Given the description of an element on the screen output the (x, y) to click on. 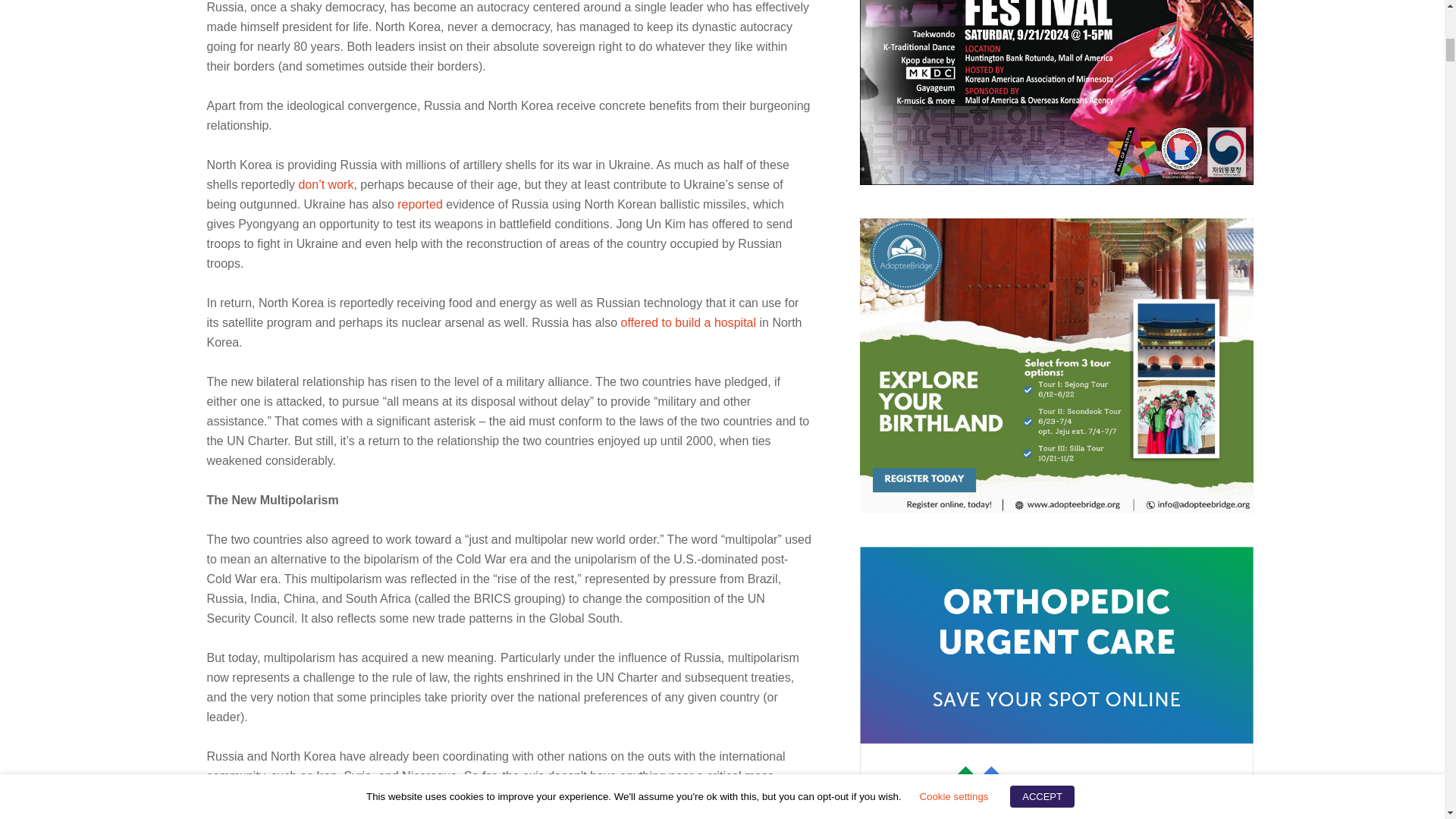
reported (419, 204)
offered to build a hospital (689, 322)
